Given the description of an element on the screen output the (x, y) to click on. 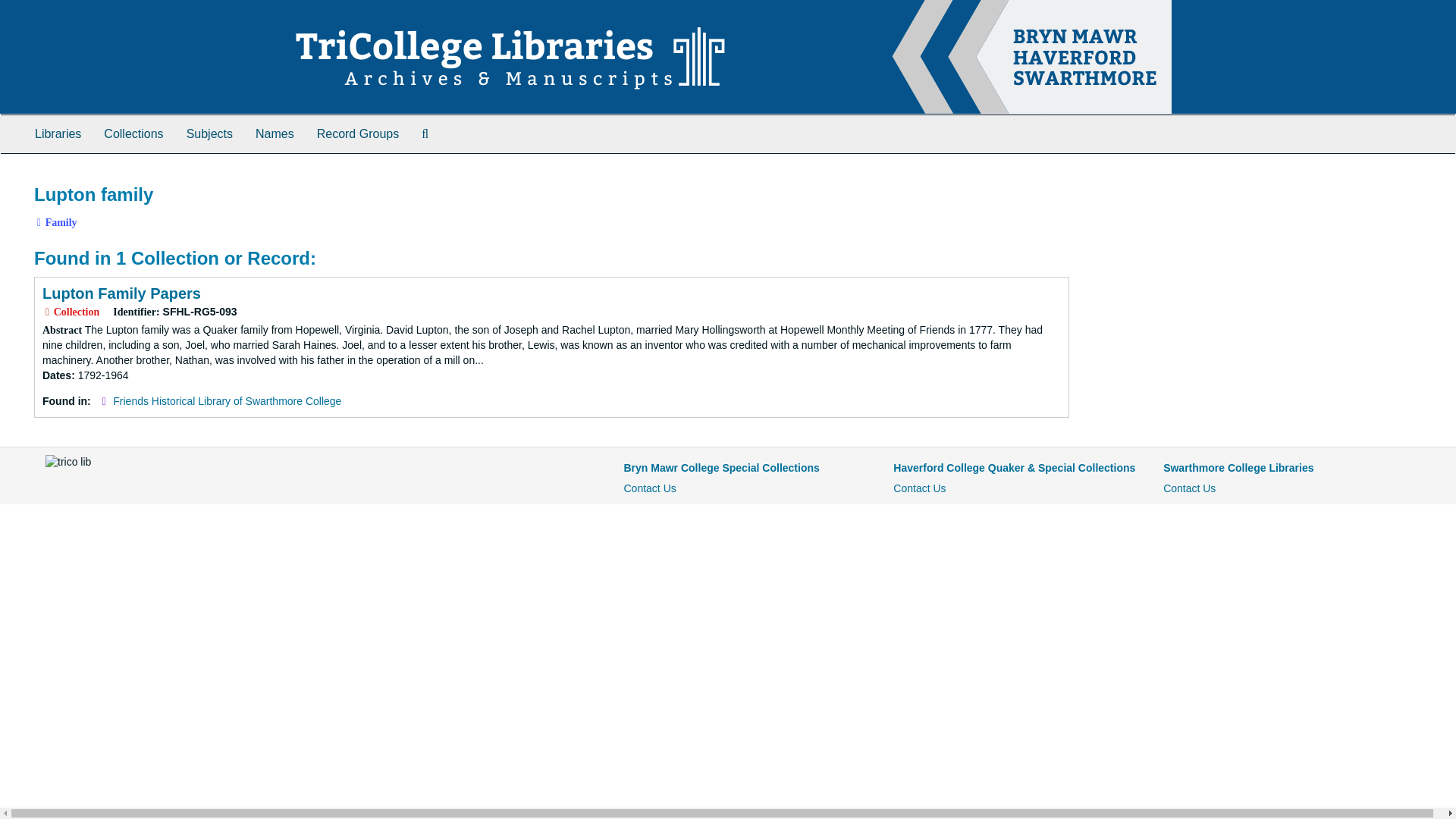
Swarthmore College Libraries (1238, 467)
Page Actions (1139, 177)
Names (274, 134)
Contact Us (649, 488)
Libraries (58, 134)
Subjects (209, 134)
Contact Us (918, 488)
Collections (133, 134)
Record Groups (357, 134)
Friends Historical Library of Swarthmore College (226, 400)
